Given the description of an element on the screen output the (x, y) to click on. 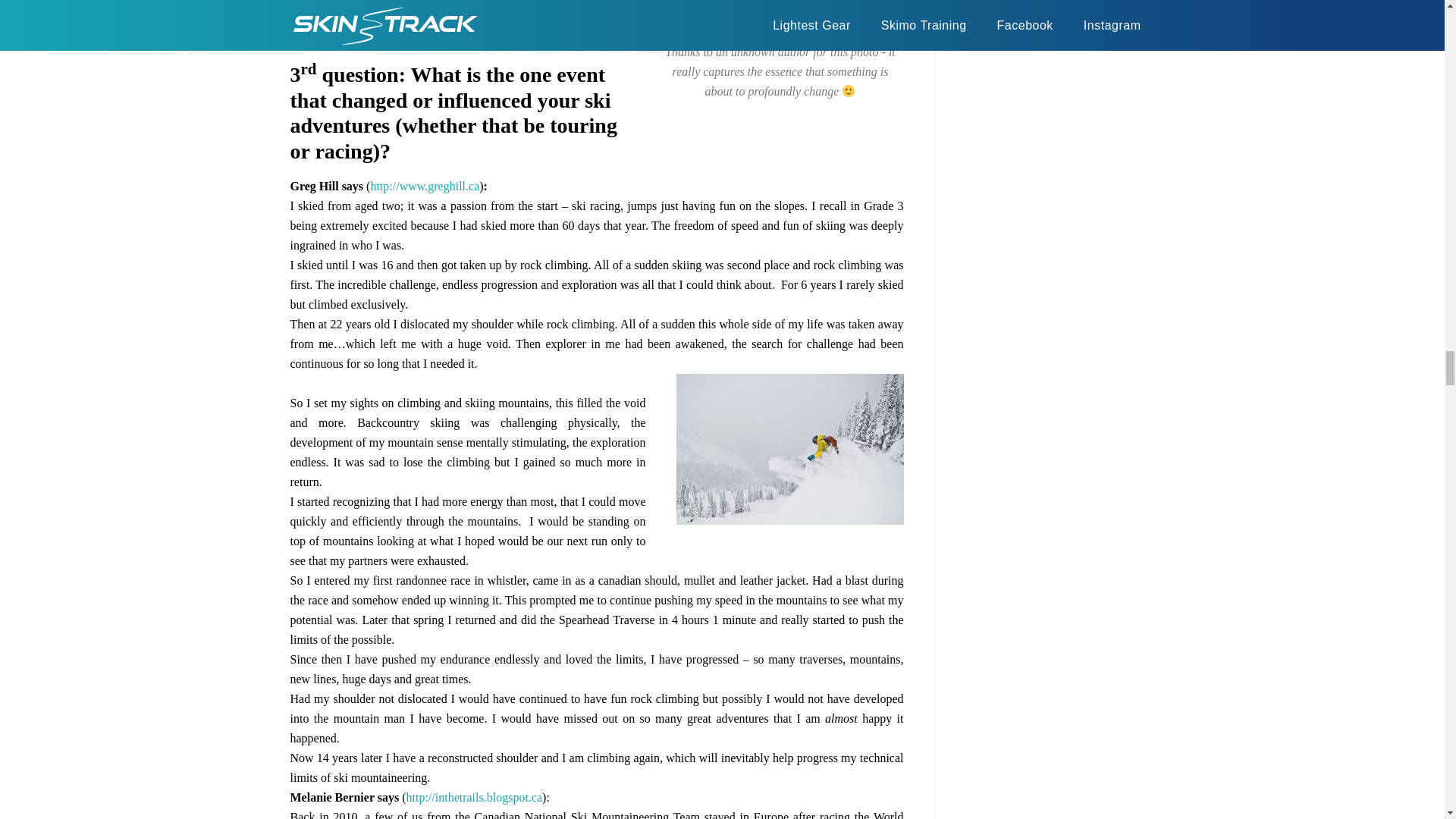
greg-hill-3 (790, 448)
game-changer-event-325x240 (779, 18)
